Given the description of an element on the screen output the (x, y) to click on. 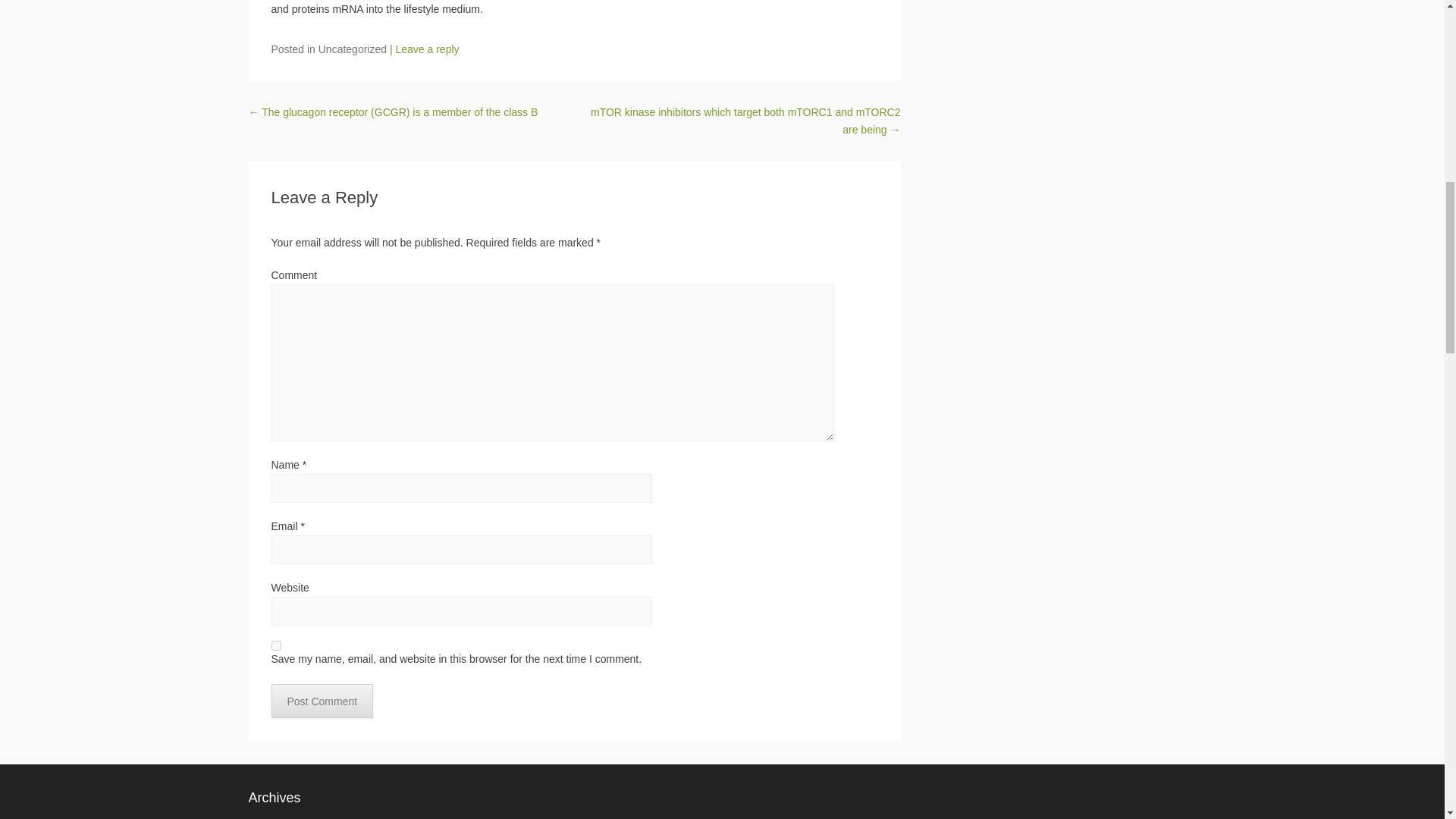
Post Comment (322, 700)
yes (275, 645)
Leave a reply (426, 49)
Post Comment (322, 700)
